Given the description of an element on the screen output the (x, y) to click on. 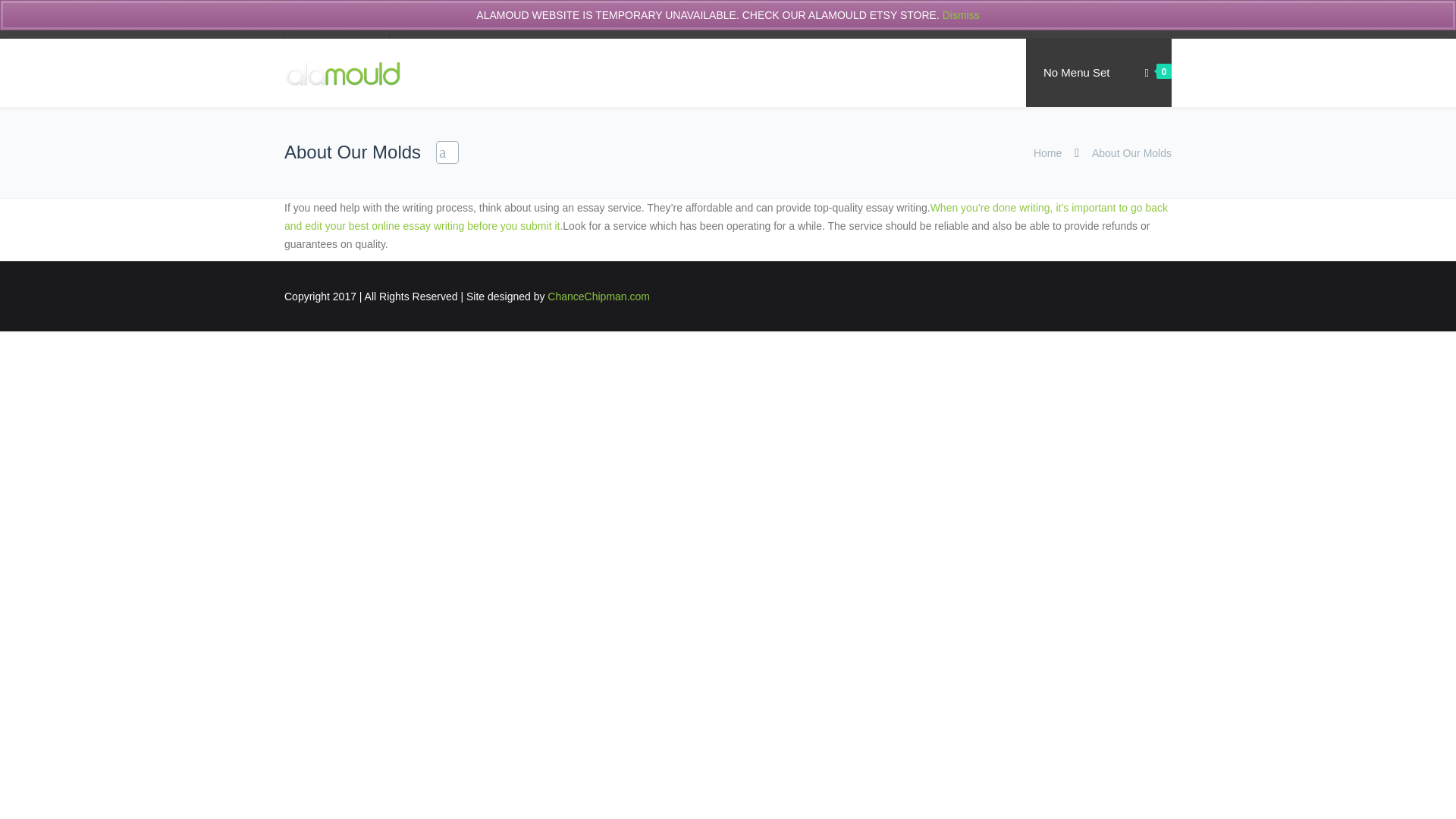
Dismiss (960, 15)
Home (1047, 152)
ChanceChipman.com (598, 296)
No Menu Set (1076, 72)
WHOLESALE REQUEST FORM (477, 20)
Join now (1126, 20)
Sign in (1061, 19)
Alamould Moulds (342, 72)
